Given the description of an element on the screen output the (x, y) to click on. 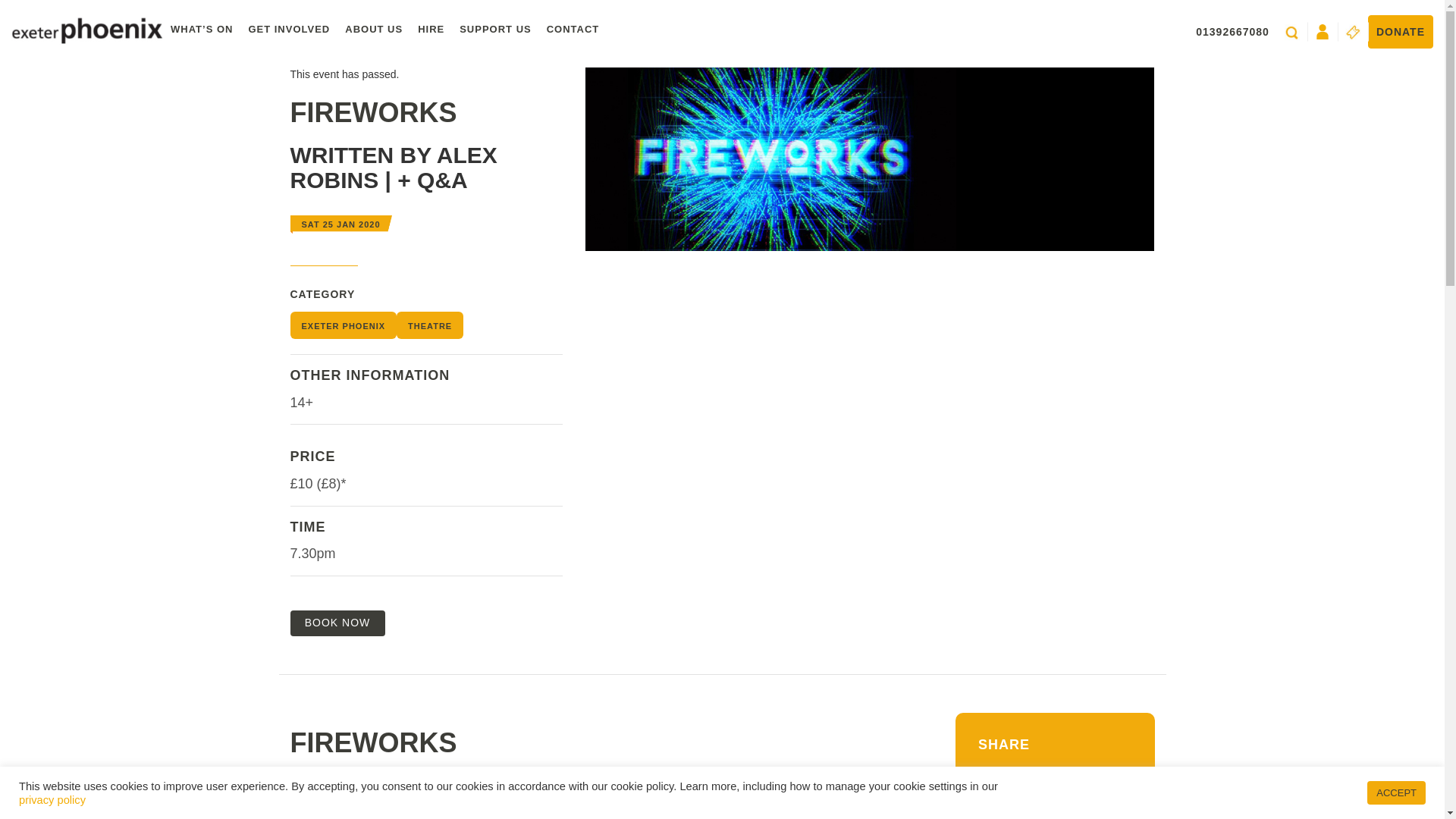
CONTACT (572, 30)
HIRE (430, 30)
SUPPORT US (494, 30)
ABOUT US (373, 30)
GET INVOLVED (288, 30)
